Given the description of an element on the screen output the (x, y) to click on. 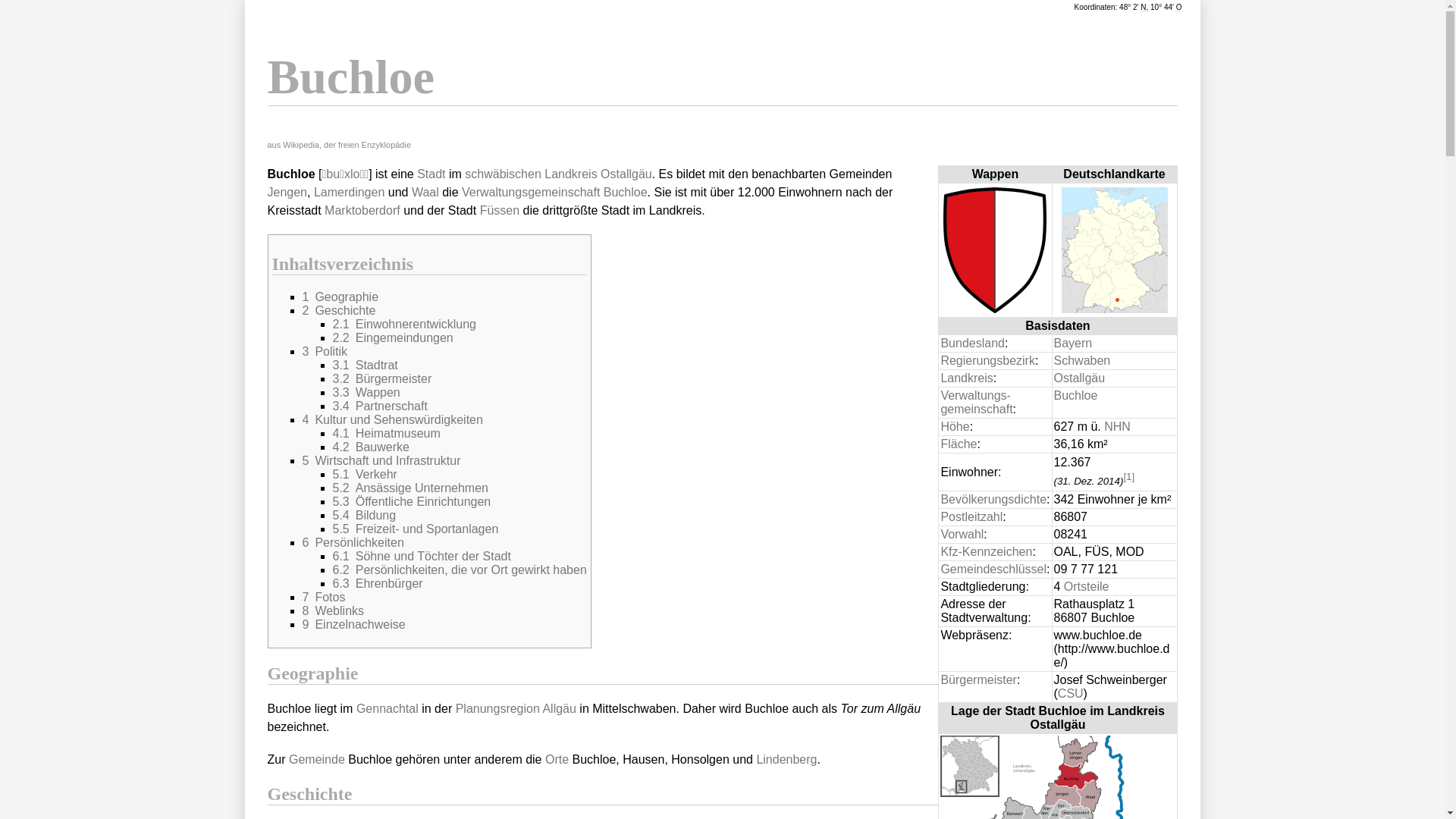
Jengen Element type: text (286, 191)
Postleitzahl Element type: text (971, 516)
5 Wirtschaft und Infrastruktur Element type: text (380, 460)
5.4 Bildung Element type: text (363, 514)
Lindenberg Element type: text (786, 759)
Gemeinde Element type: text (316, 759)
1 Geographie Element type: text (339, 296)
Verwaltungsgemeinschaft Buchloe Element type: text (554, 191)
Vorwahl Element type: text (961, 533)
3 Politik Element type: text (324, 351)
Bundesland Element type: text (972, 342)
Buchloe Element type: text (1076, 395)
9 Einzelnachweise Element type: text (352, 624)
www.buchloe.de Element type: text (1112, 648)
3.4 Partnerschaft Element type: text (379, 405)
Ortsteile Element type: text (1086, 586)
Landkreis Element type: text (966, 377)
[1] Element type: text (1128, 476)
Deutschlandkarte, Position der Stadt Buchloe hervorgehoben Element type: hover (1114, 248)
2.2 Eingemeindungen Element type: text (392, 337)
4.1 Heimatmuseum Element type: text (385, 432)
3.1 Stadtrat Element type: text (364, 364)
2.1 Einwohnerentwicklung Element type: text (403, 323)
Stadt Element type: text (431, 173)
Regierungsbezirk Element type: text (987, 360)
CSU Element type: text (1070, 693)
Kfz-Kennzeichen Element type: text (986, 551)
2 Geschichte Element type: text (338, 310)
Marktoberdorf Element type: text (362, 209)
Lamerdingen Element type: text (348, 191)
Gennachtal Element type: text (387, 708)
5.5 Freizeit- und Sportanlagen Element type: text (415, 528)
3.3 Wappen Element type: text (365, 391)
Buchloe Element type: hover (1116, 299)
Waal Element type: text (425, 191)
Bayern Element type: text (1073, 342)
4.2 Bauwerke Element type: text (370, 446)
NHN Element type: text (1117, 426)
5.1 Verkehr Element type: text (364, 473)
Orte Element type: text (556, 759)
Wappen der Stadt Buchloe Element type: hover (994, 248)
Schwaben Element type: text (1082, 360)
7 Fotos Element type: text (323, 596)
8 Weblinks Element type: text (332, 610)
